Given the description of an element on the screen output the (x, y) to click on. 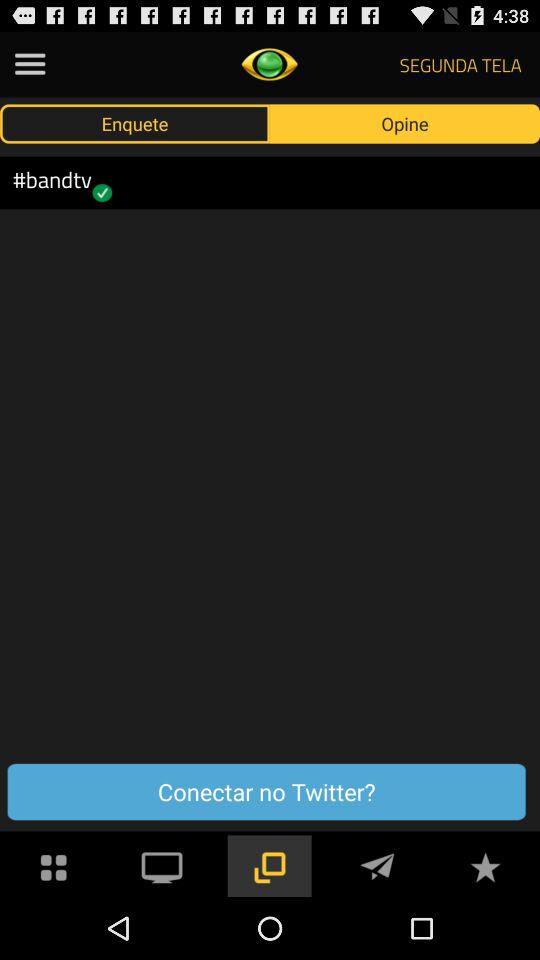
open menu (29, 64)
